Given the description of an element on the screen output the (x, y) to click on. 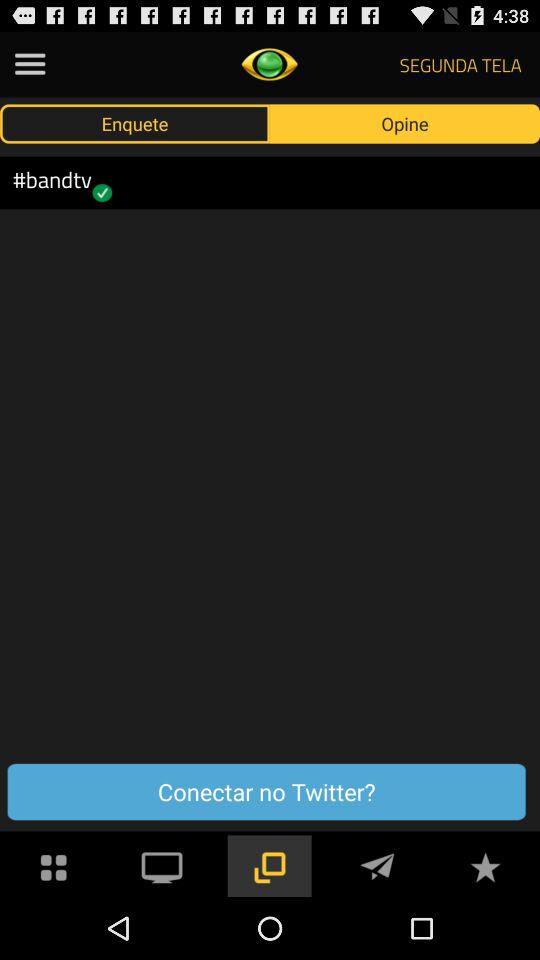
open menu (29, 64)
